Given the description of an element on the screen output the (x, y) to click on. 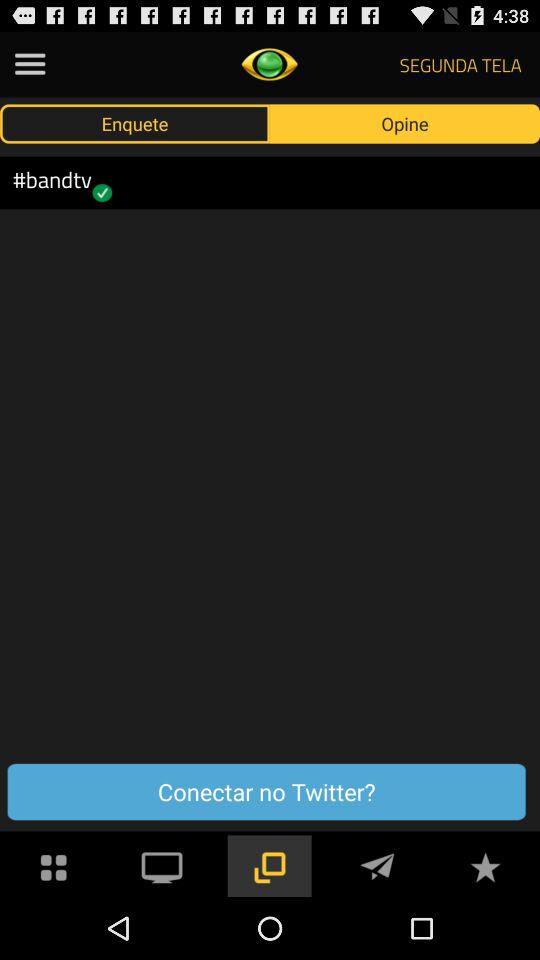
open menu (29, 64)
